Given the description of an element on the screen output the (x, y) to click on. 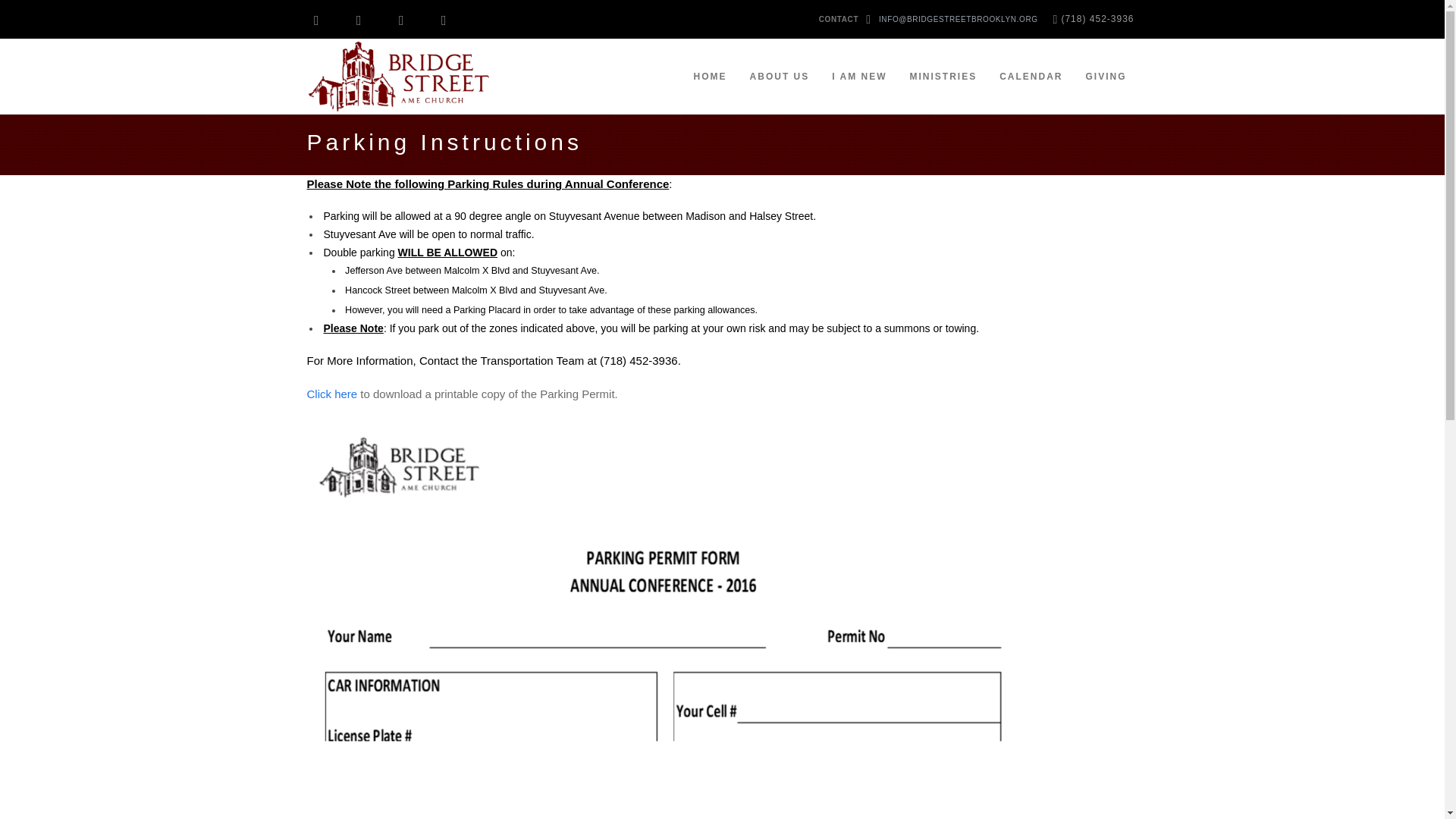
CONTACT (838, 19)
I AM NEW (859, 76)
MINISTRIES (943, 76)
ABOUT US (779, 76)
CALENDAR (1031, 76)
